Given the description of an element on the screen output the (x, y) to click on. 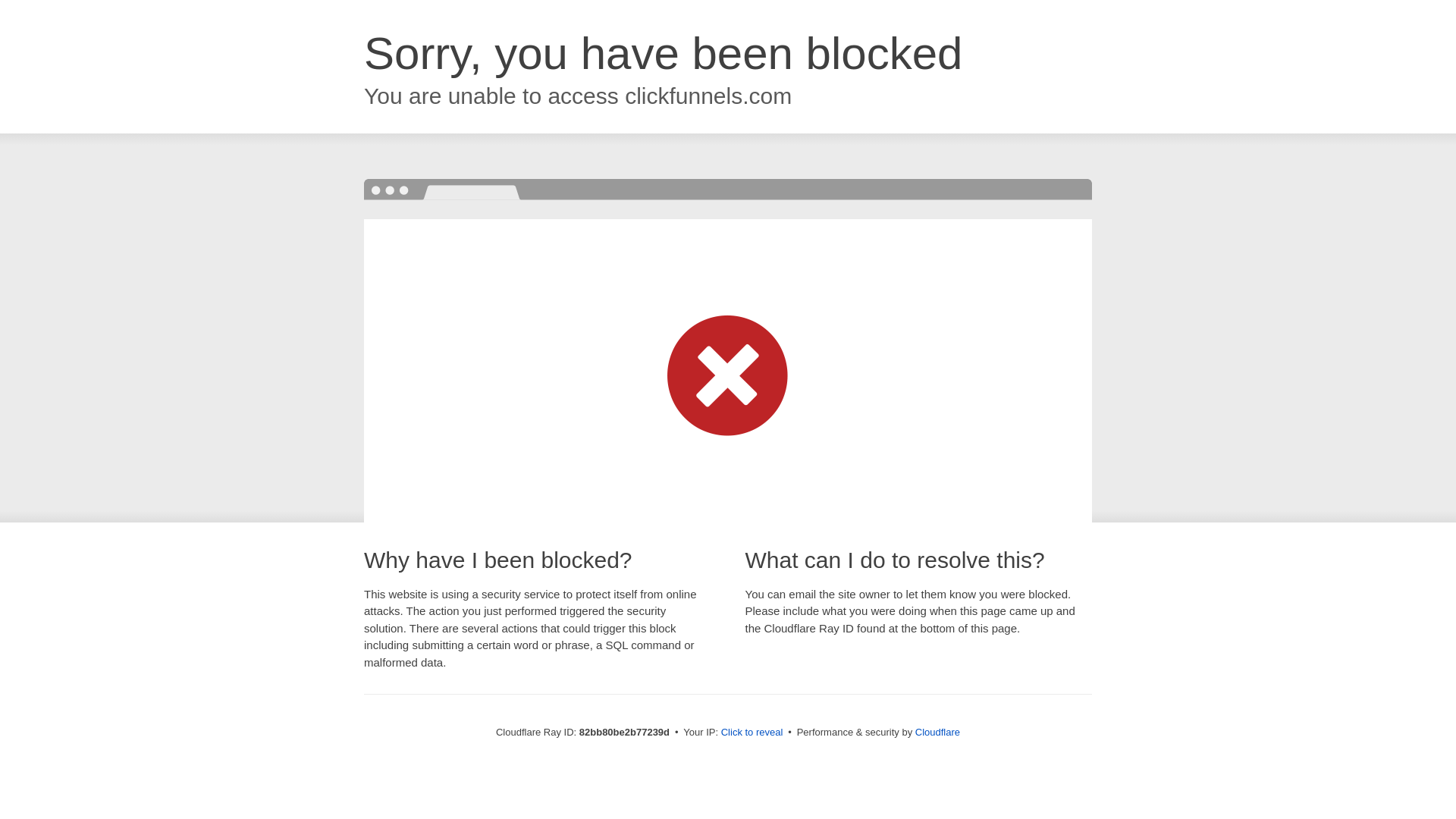
Cloudflare Element type: text (937, 731)
Click to reveal Element type: text (752, 732)
